Given the description of an element on the screen output the (x, y) to click on. 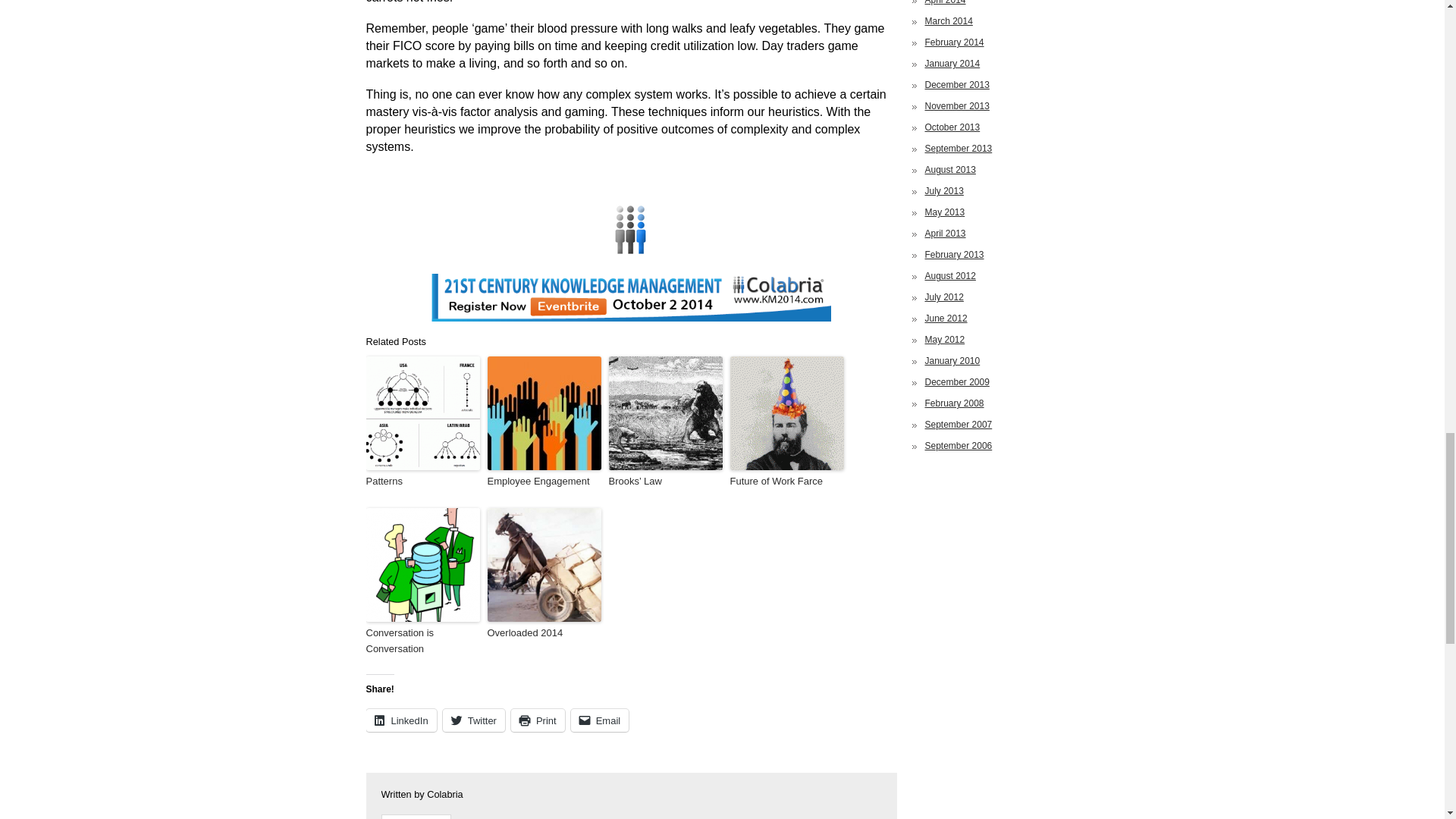
Print (537, 720)
Click to share on Twitter (473, 720)
Posts by Colabria (444, 794)
Colabria (555, 818)
Email (599, 720)
Future of Work Farce (786, 481)
Employee Engagement (542, 481)
Click to print (537, 720)
Click to email a link to a friend (599, 720)
Conversation is Conversation (422, 641)
